Given the description of an element on the screen output the (x, y) to click on. 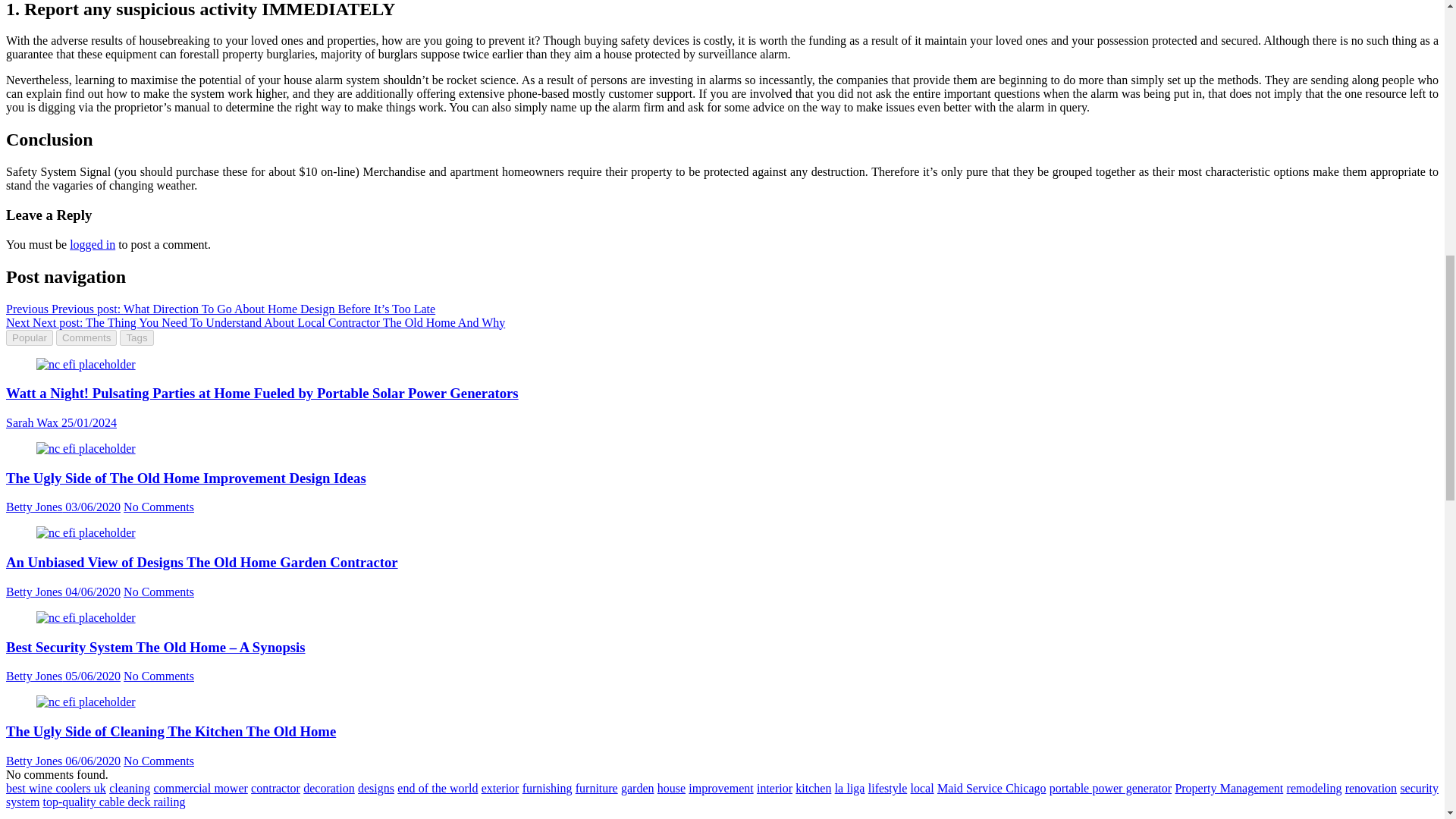
An Unbiased View of Designs The Old Home Garden Contractor (85, 532)
Tags (135, 336)
The Ugly Side of The Old Home Improvement Design Ideas (85, 448)
logged in (92, 244)
The Ugly Side of The Old Home Improvement Design Ideas (33, 506)
Comments (86, 336)
Popular (28, 336)
The Ugly Side of The Old Home Improvement Design Ideas (85, 448)
